Given the description of an element on the screen output the (x, y) to click on. 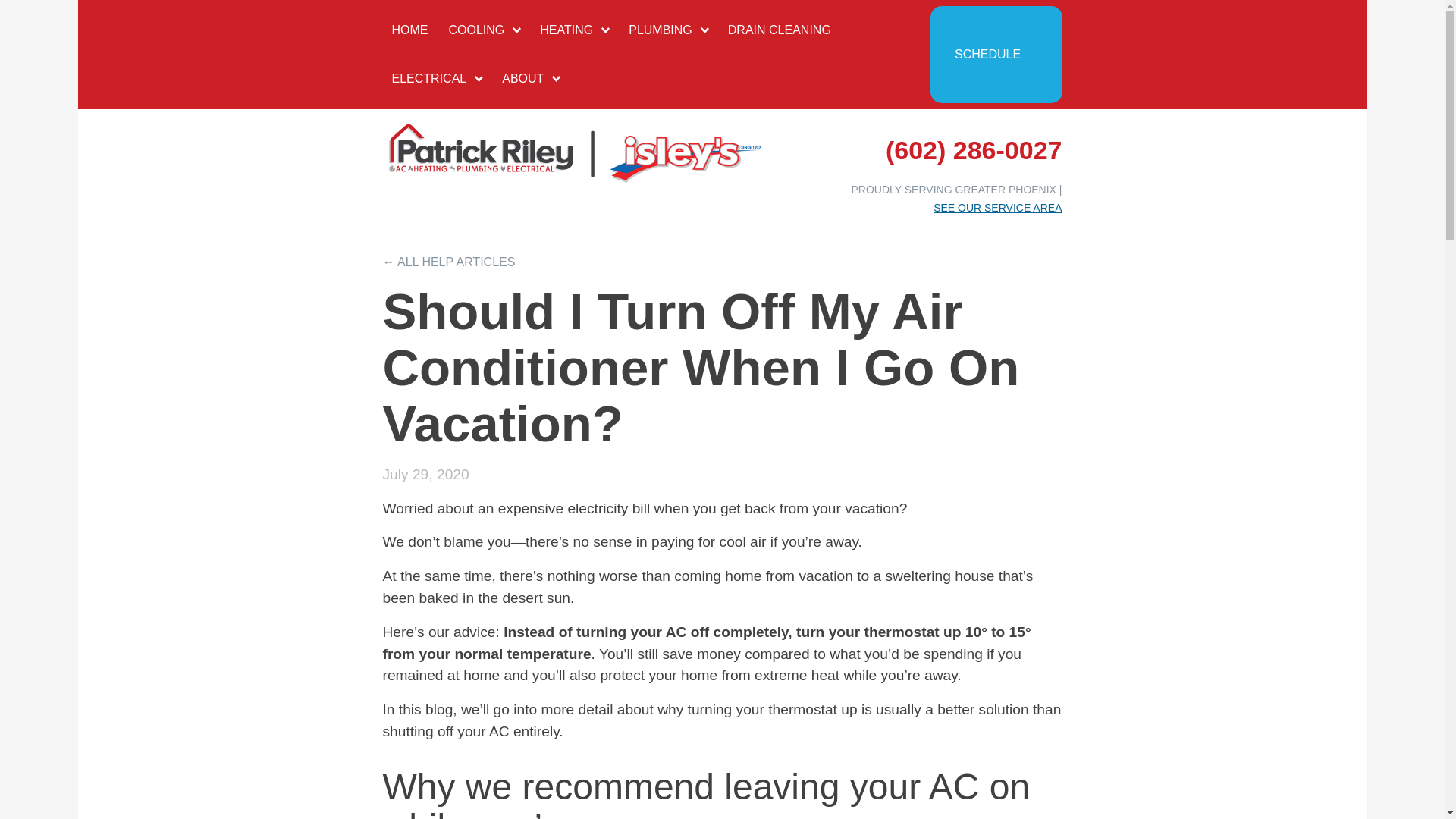
PLUMBING (668, 29)
HEATING (574, 29)
COOLING (484, 29)
DRAIN CLEANING (779, 29)
ELECTRICAL (435, 78)
HOME (408, 29)
